Given the description of an element on the screen output the (x, y) to click on. 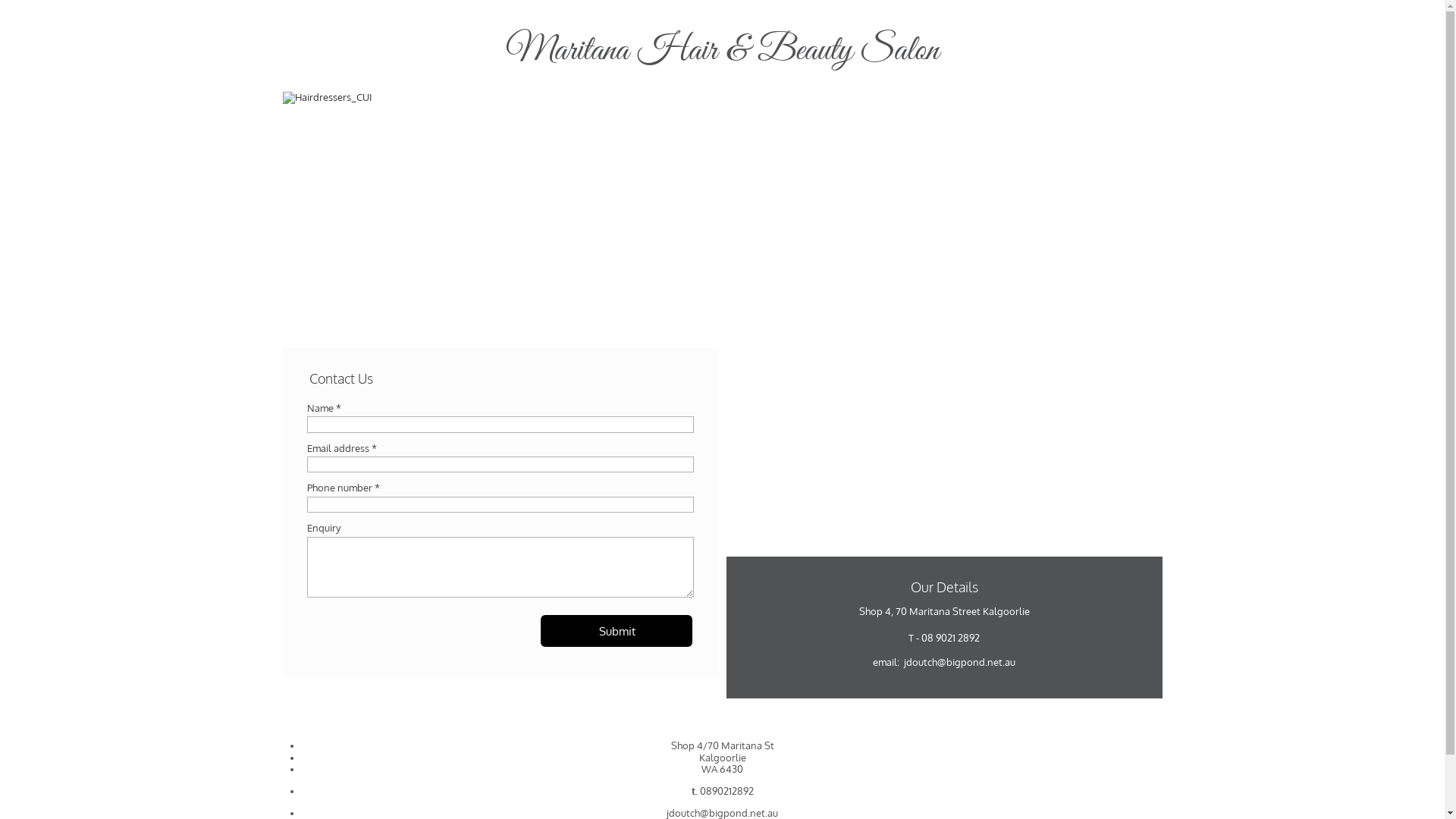
Hairdressers_CUI Element type: hover (721, 216)
Submit Element type: text (616, 630)
jdoutch@bigpond.net.au Element type: text (959, 661)
08 9021 2892 Element type: text (950, 637)
0890212892 Element type: text (726, 790)
